Given the description of an element on the screen output the (x, y) to click on. 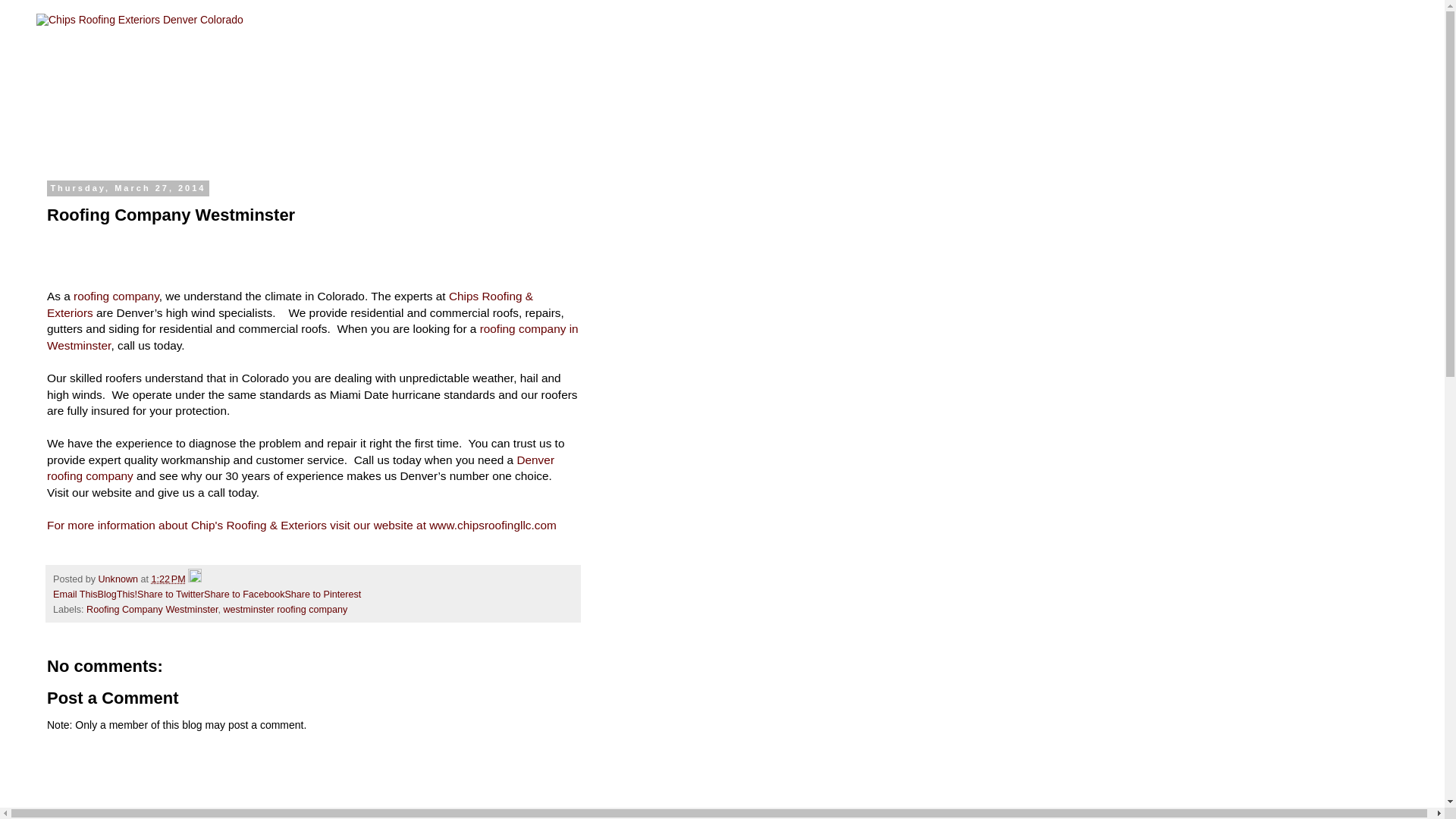
Email This (74, 593)
Share to Pinterest (322, 593)
Denver roofing company (300, 468)
roofing company in Westminster (312, 337)
Email This (74, 593)
BlogThis! (117, 593)
westminster roofing company (284, 609)
Share to Pinterest (322, 593)
Edit Post (194, 579)
author profile (120, 579)
Share to Facebook (243, 593)
Share to Facebook (243, 593)
Unknown (120, 579)
roofing company (116, 295)
